Given the description of an element on the screen output the (x, y) to click on. 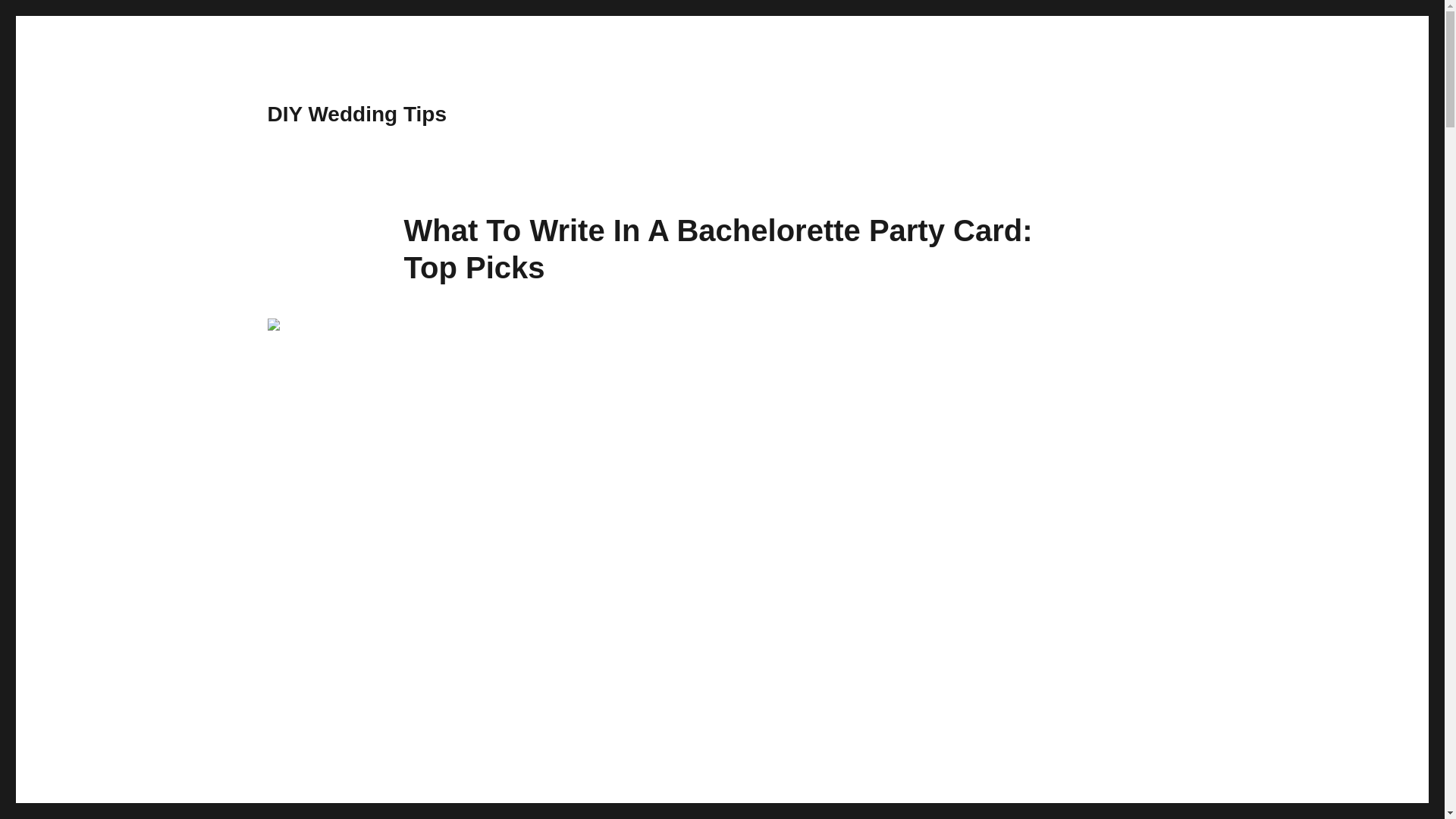
DIY Wedding Tips (355, 114)
